Given the description of an element on the screen output the (x, y) to click on. 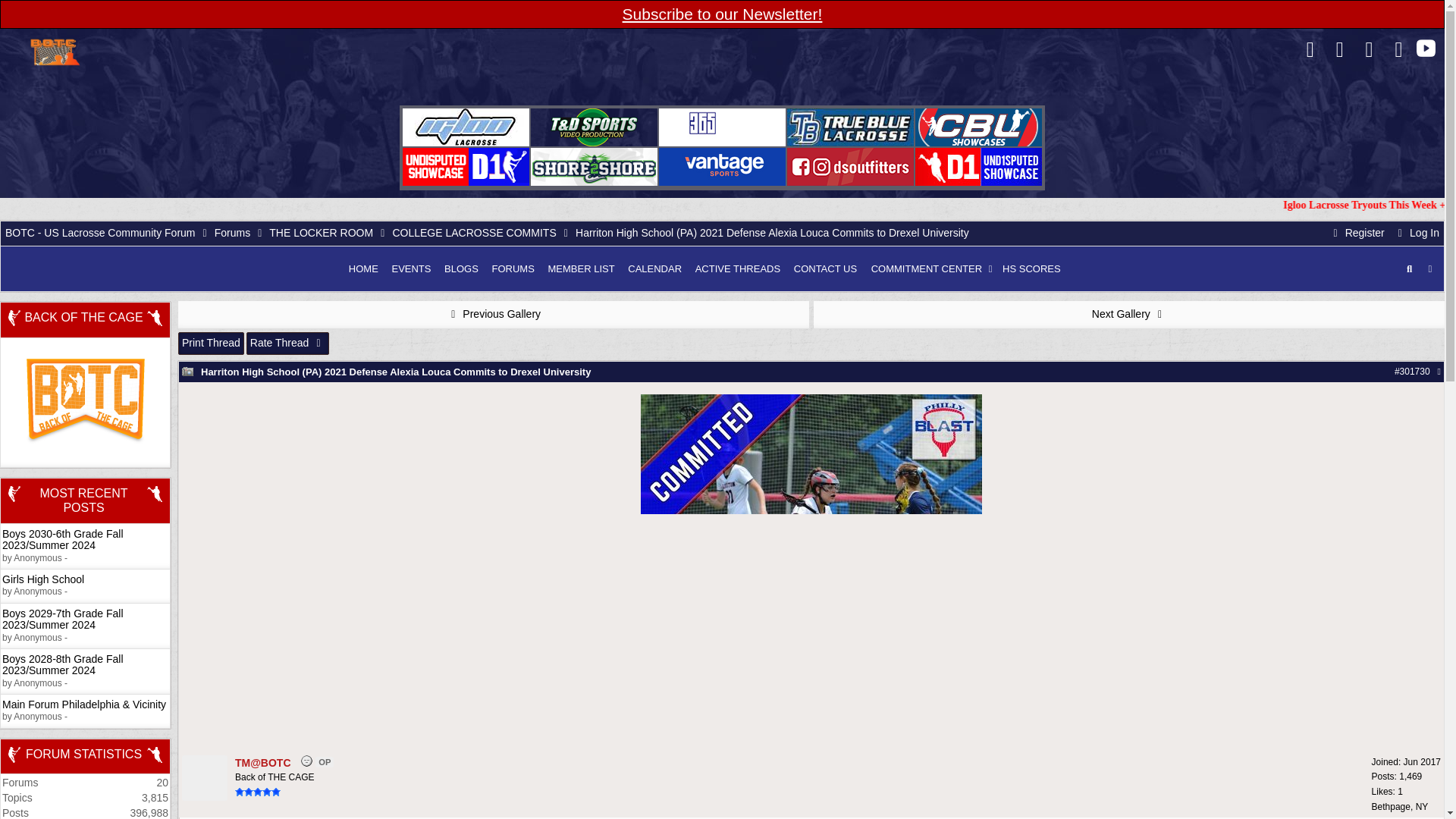
TD Sports (594, 127)
Visit us on Twitter! (1339, 52)
365Lax (722, 127)
True Blue Lacrosse (850, 127)
Girls UnD1sputed Showcase (466, 166)
Download our App on the Play Store! (1368, 52)
Visit us on YouTube! (1426, 49)
Visit us on Instagram! (1399, 52)
Igloo Lacrosse (466, 127)
Subscribe to our Newsletter! (722, 13)
